Given the description of an element on the screen output the (x, y) to click on. 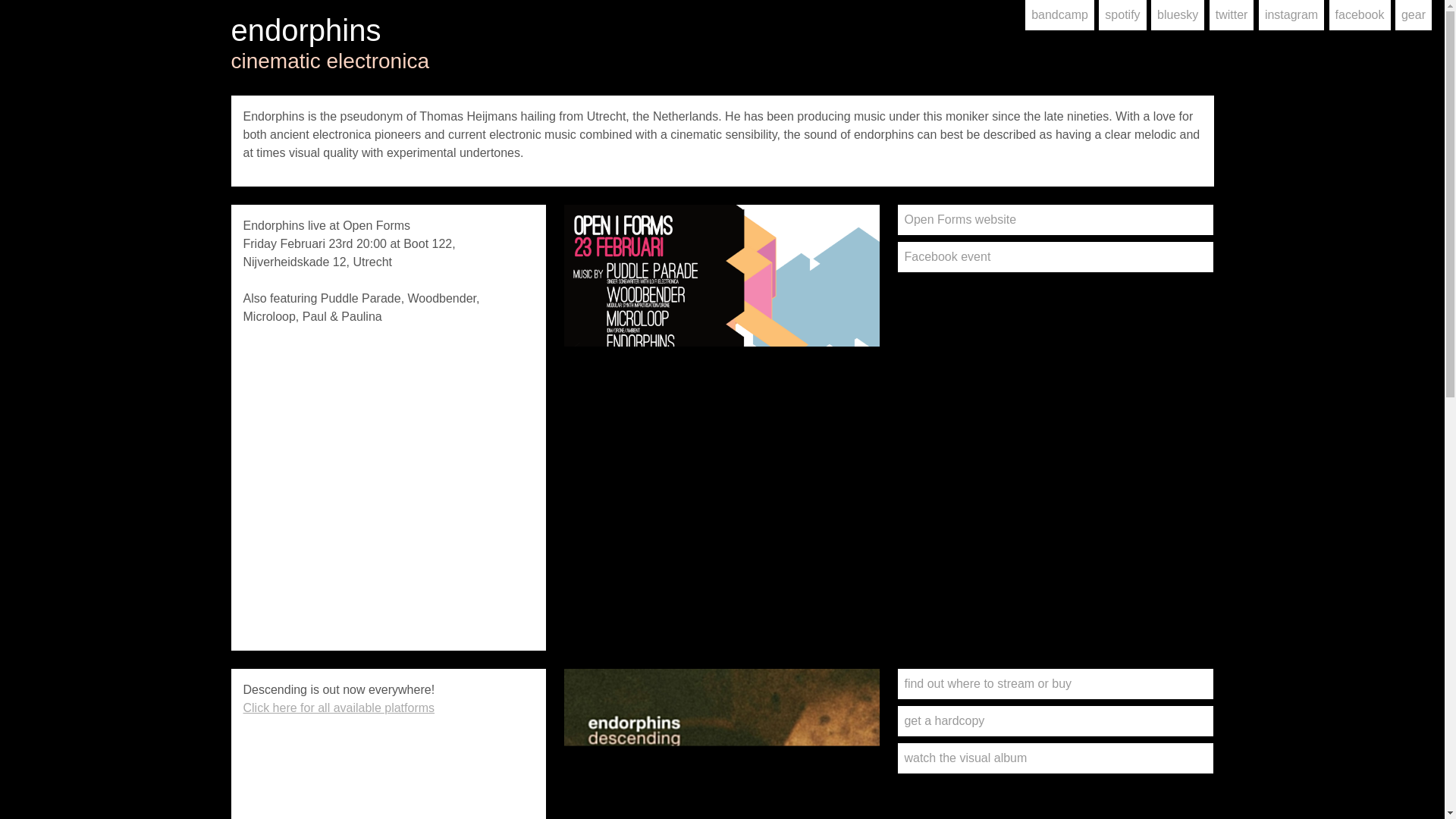
Facebook event (1055, 256)
spotify (1122, 15)
watch the visual album (1055, 757)
gear (1412, 15)
get a hardcopy (1055, 720)
Click here for all available platforms (338, 707)
twitter (1231, 15)
instagram (1291, 15)
find out where to stream or buy (1055, 684)
Open Forms website (1055, 219)
bandcamp (1059, 15)
bluesky (1177, 15)
facebook (1359, 15)
